Given the description of an element on the screen output the (x, y) to click on. 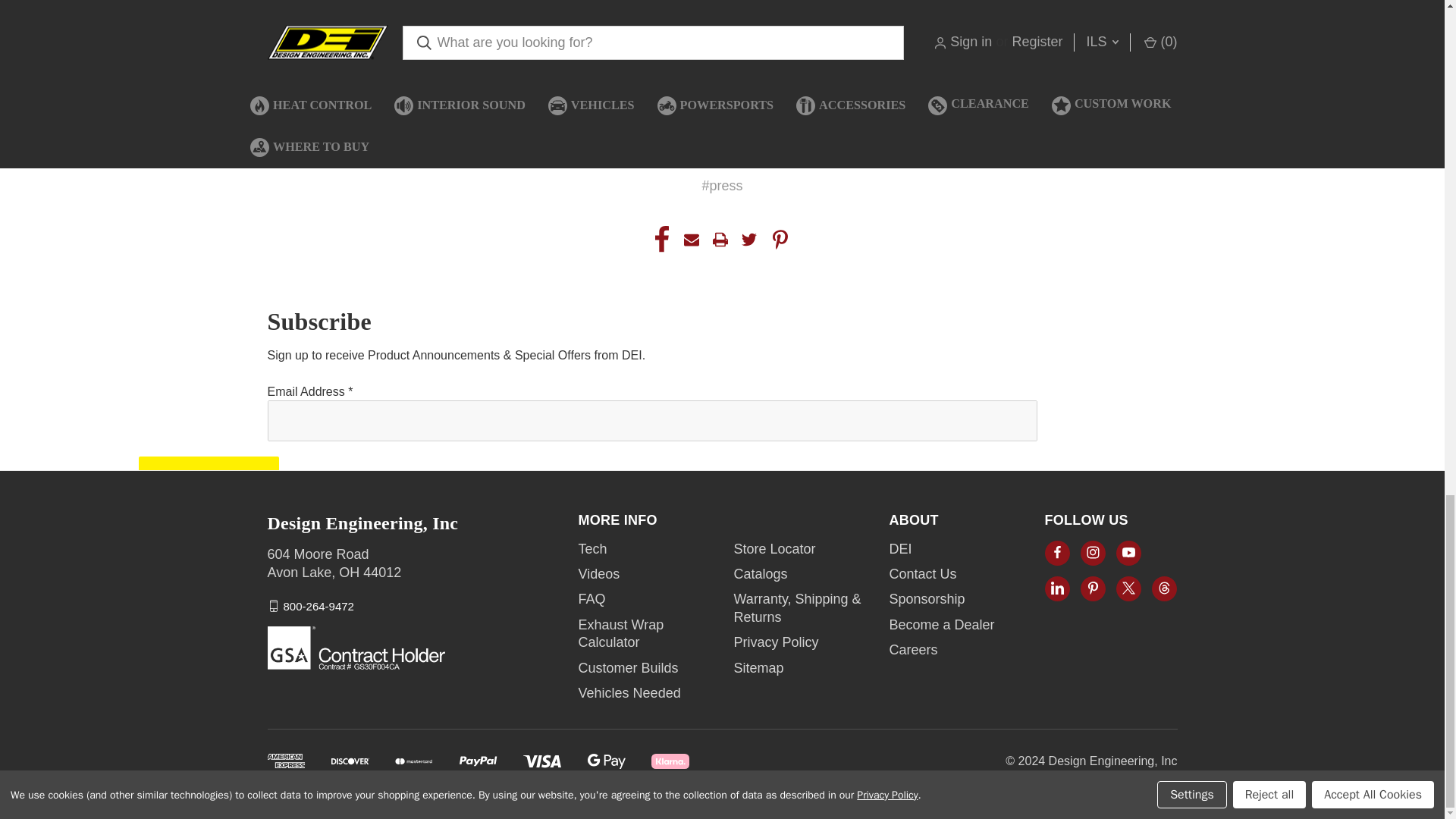
Subscribe (208, 476)
